Given the description of an element on the screen output the (x, y) to click on. 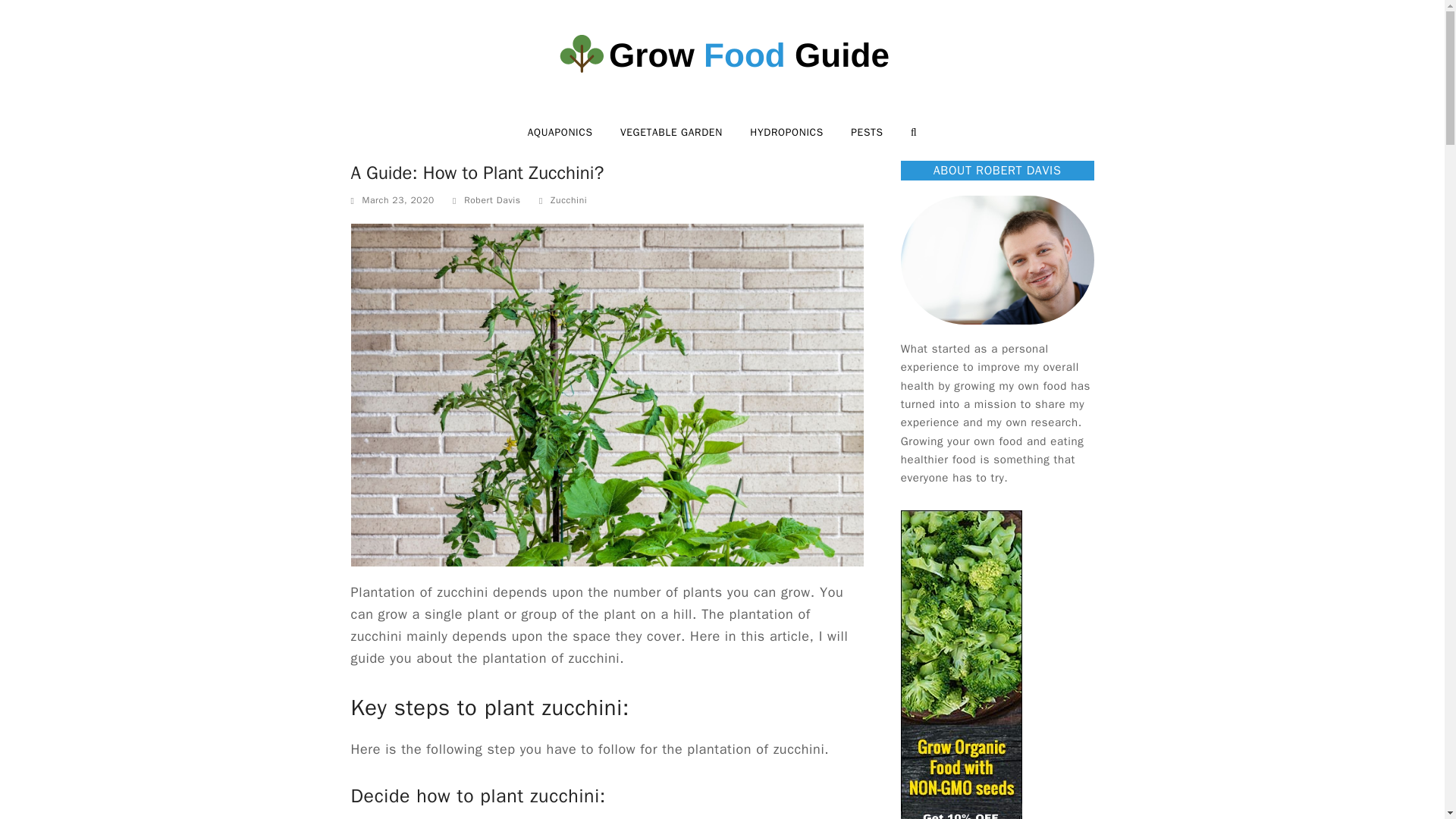
VEGETABLE GARDEN (671, 132)
Zucchini (568, 200)
HYDROPONICS (786, 132)
PESTS (866, 132)
Robert Davis (492, 200)
AQUAPONICS (560, 132)
Posts by Robert Davis (492, 200)
